Given the description of an element on the screen output the (x, y) to click on. 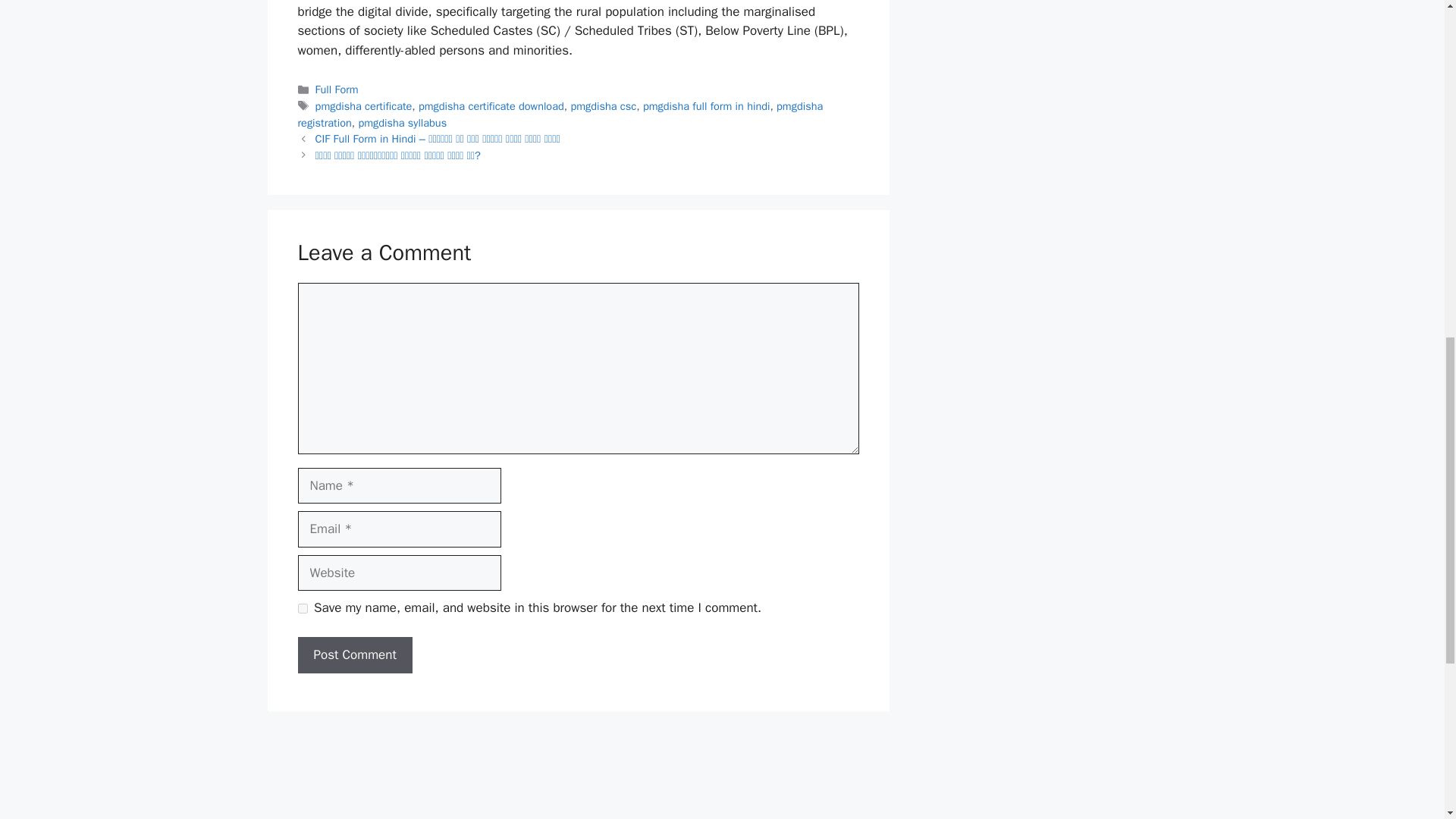
yes (302, 608)
pmgdisha csc (603, 106)
pmgdisha certificate download (491, 106)
pmgdisha certificate (363, 106)
pmgdisha syllabus (402, 122)
pmgdisha full form in hindi (706, 106)
Full Form (336, 89)
Post Comment (354, 655)
Post Comment (354, 655)
pmgdisha registration (559, 114)
